Given the description of an element on the screen output the (x, y) to click on. 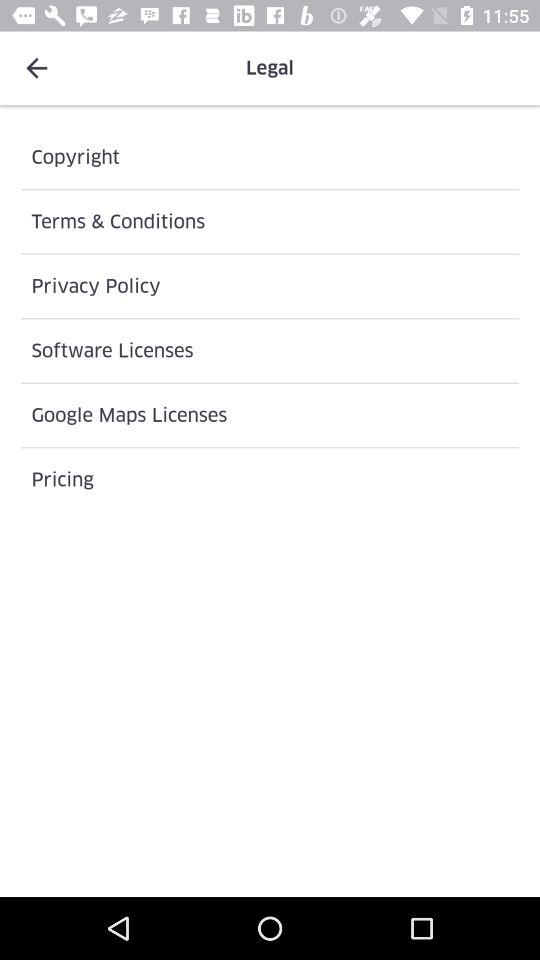
click software licenses item (270, 350)
